Given the description of an element on the screen output the (x, y) to click on. 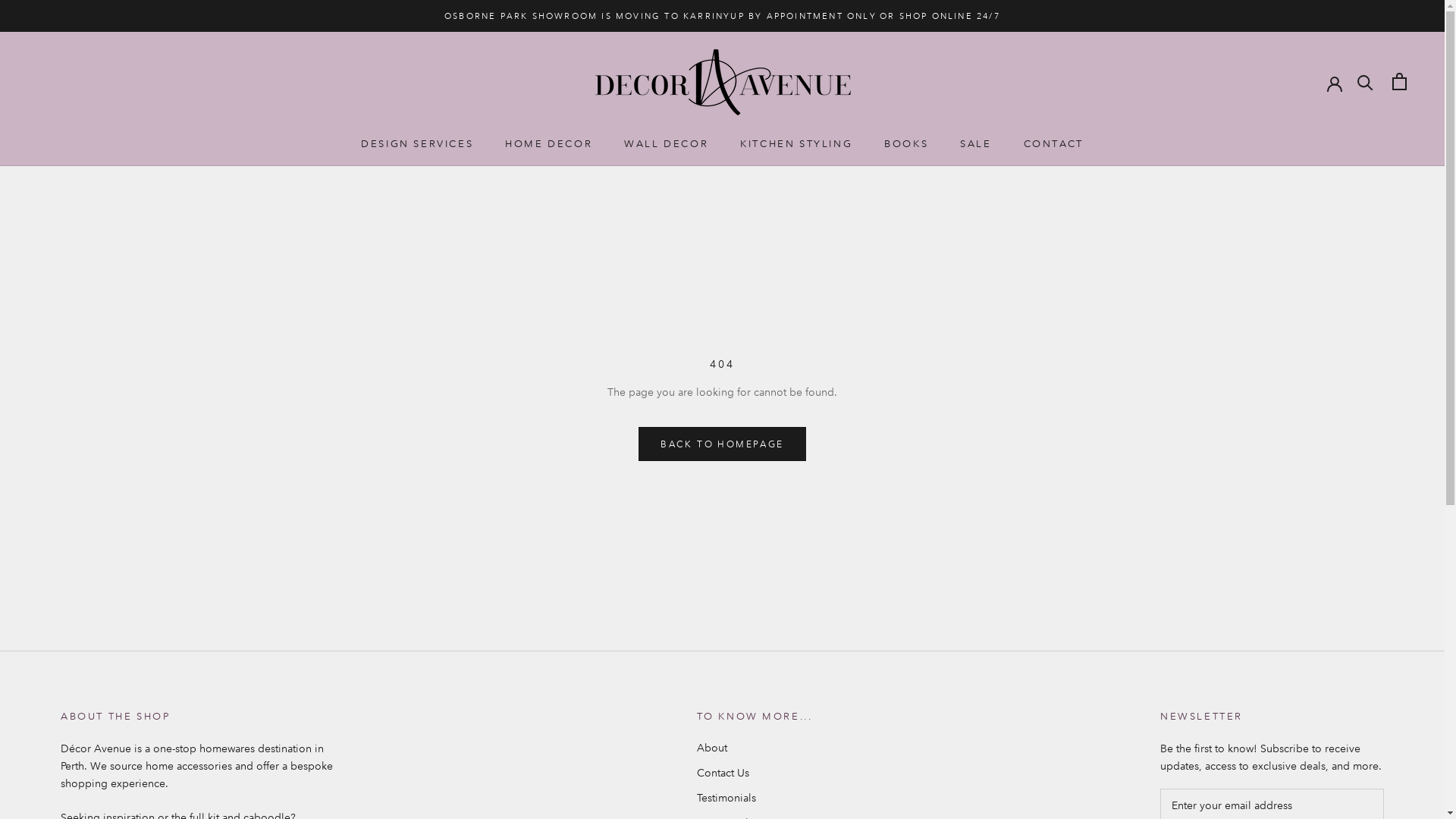
SALE
SALE Element type: text (975, 143)
Testimonials Element type: text (754, 798)
DESIGN SERVICES Element type: text (416, 143)
KITCHEN STYLING
KITCHEN STYLING Element type: text (796, 143)
BOOKS
BOOKS Element type: text (906, 143)
CONTACT
CONTACT Element type: text (1053, 143)
BACK TO HOMEPAGE Element type: text (721, 443)
HOME DECOR Element type: text (548, 143)
WALL DECOR
WALL DECOR Element type: text (666, 143)
Contact Us Element type: text (754, 773)
About Element type: text (754, 748)
